Given the description of an element on the screen output the (x, y) to click on. 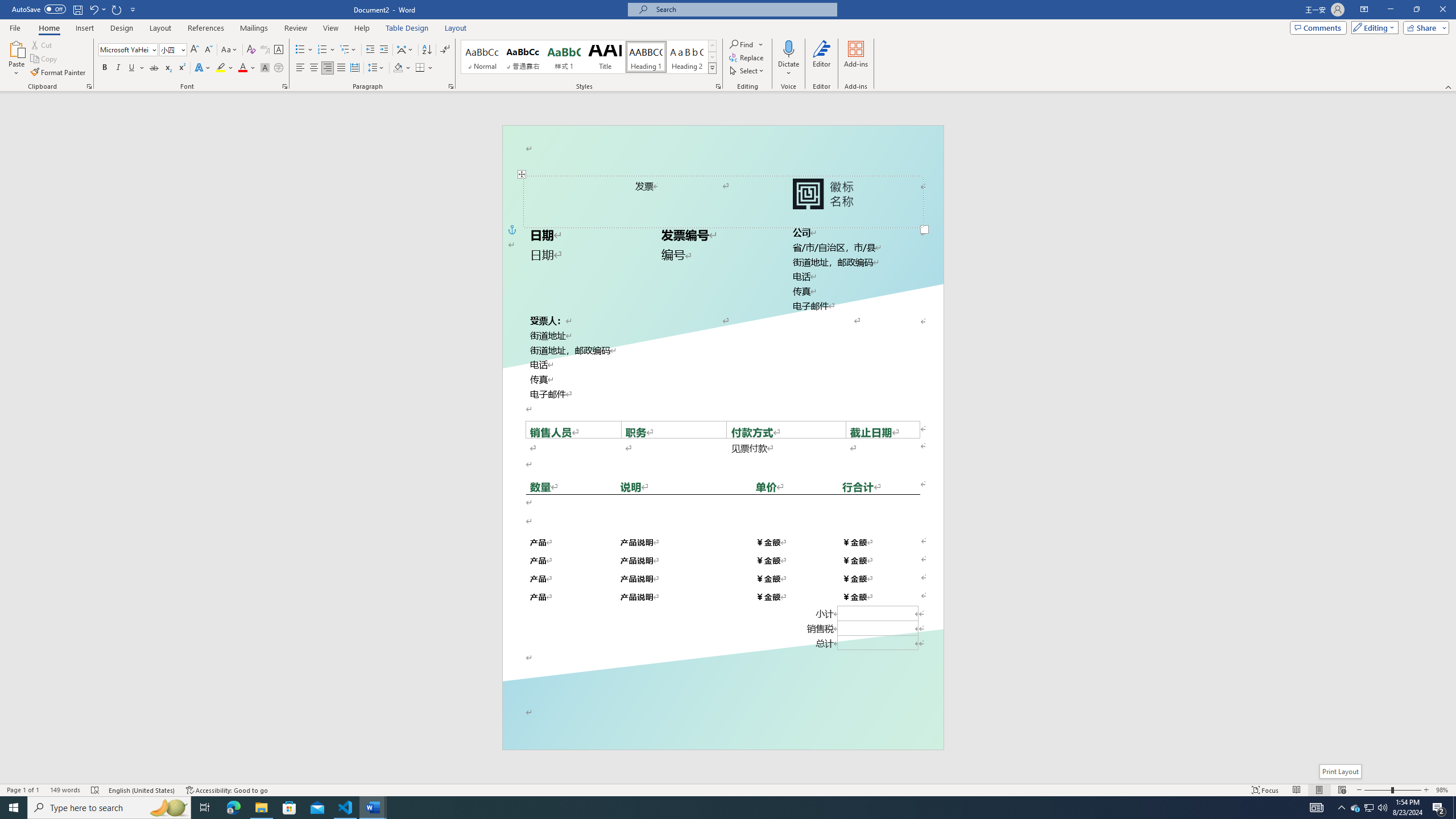
Bold (104, 67)
Spelling and Grammar Check Errors (94, 790)
Font... (285, 85)
Class: MsoCommandBar (728, 789)
Character Border (278, 49)
